Given the description of an element on the screen output the (x, y) to click on. 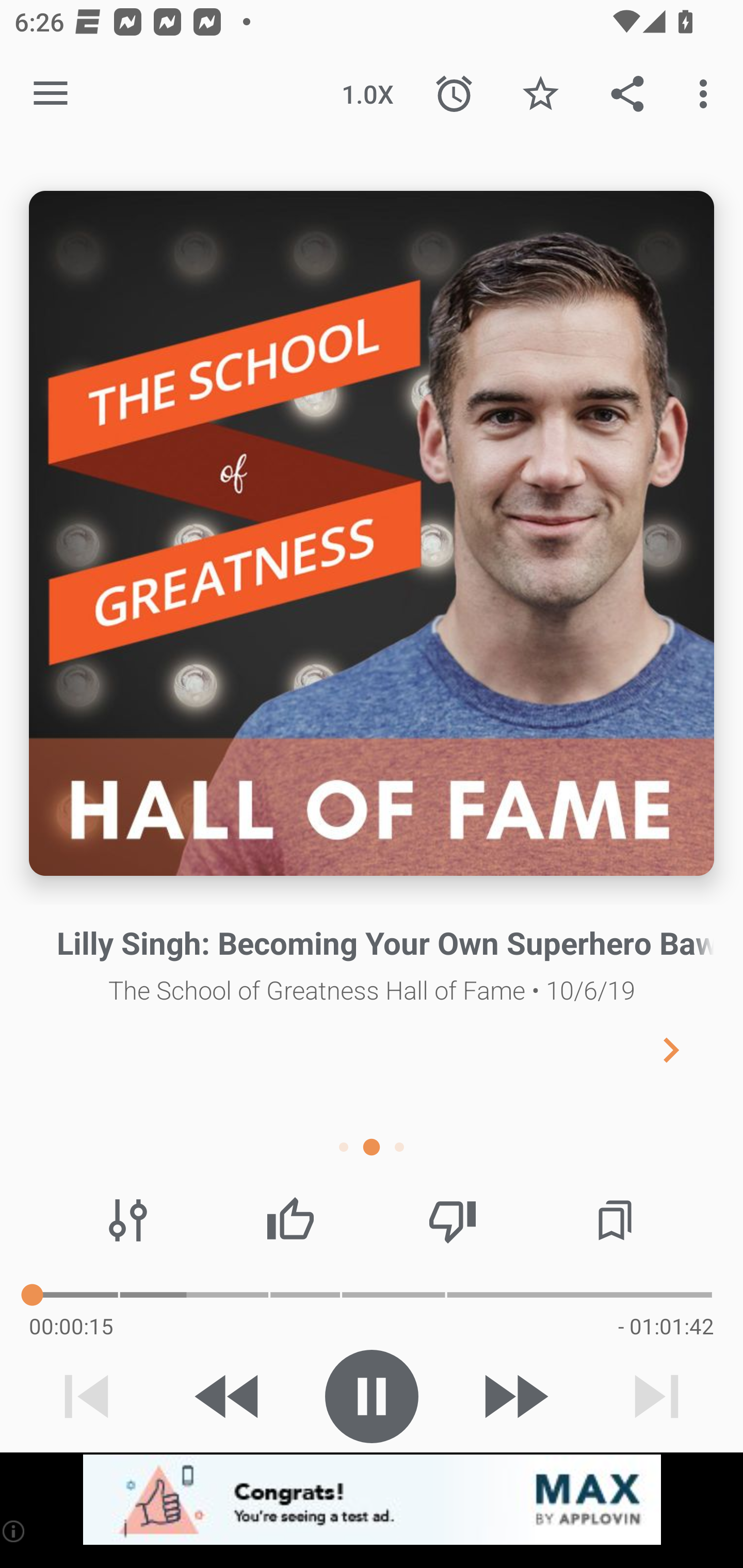
Open navigation sidebar (50, 93)
1.0X (366, 93)
Sleep Timer (453, 93)
Favorite (540, 93)
Share (626, 93)
More options (706, 93)
Episode description (371, 533)
Next Chapter (686, 1049)
Audio effects (127, 1220)
Thumbs up (290, 1220)
Thumbs down (452, 1220)
Chapters / Bookmarks (614, 1220)
- 01:01:42 (666, 1325)
Previous track (86, 1395)
Skip 15s backward (228, 1395)
Play / Pause (371, 1395)
Skip 30s forward (513, 1395)
Next track (656, 1395)
app-monetization (371, 1500)
(i) (14, 1531)
